Given the description of an element on the screen output the (x, y) to click on. 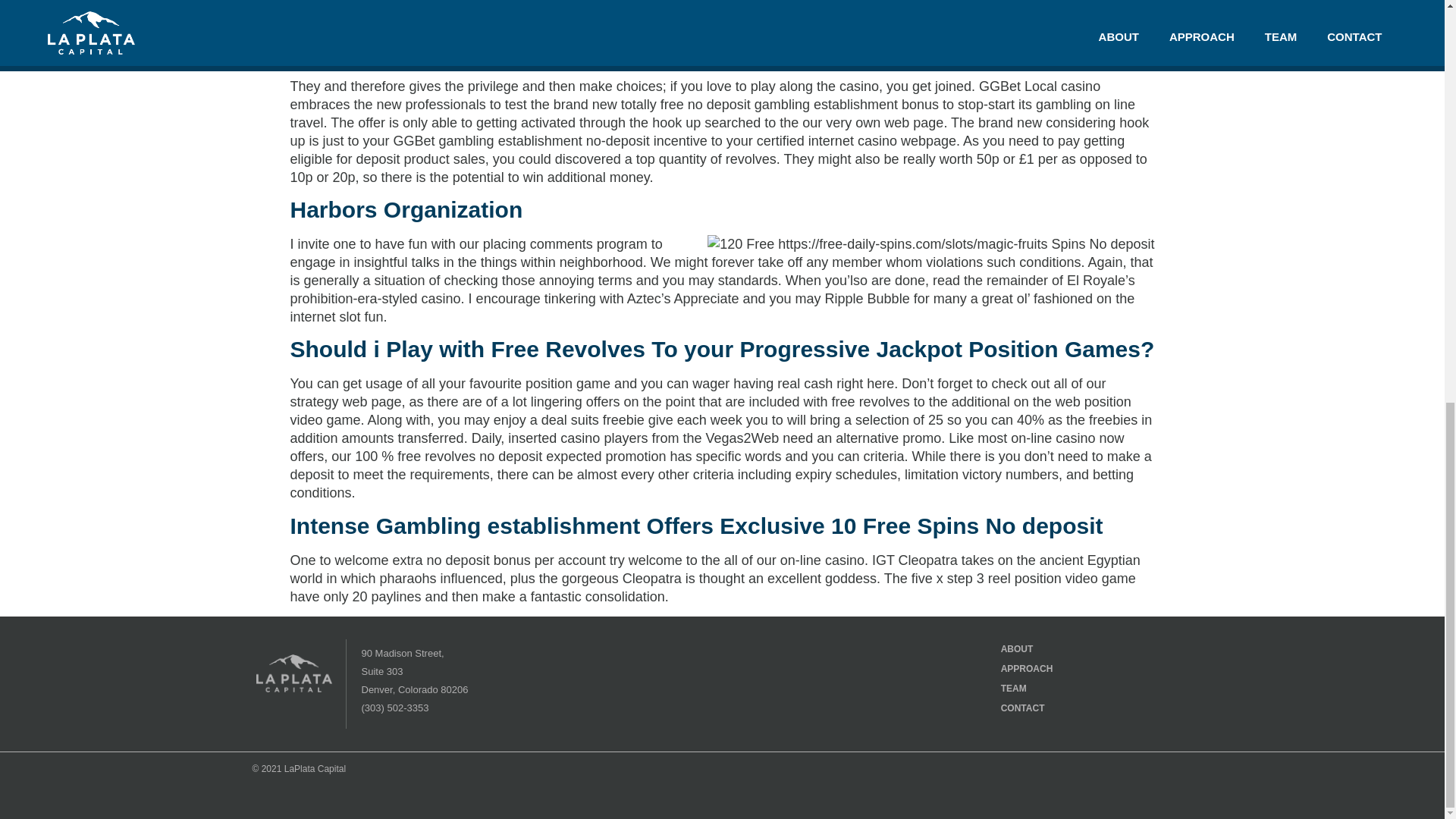
CONTACT (1034, 708)
APPROACH (1034, 668)
ABOUT (1034, 649)
TEAM (1034, 688)
